Given the description of an element on the screen output the (x, y) to click on. 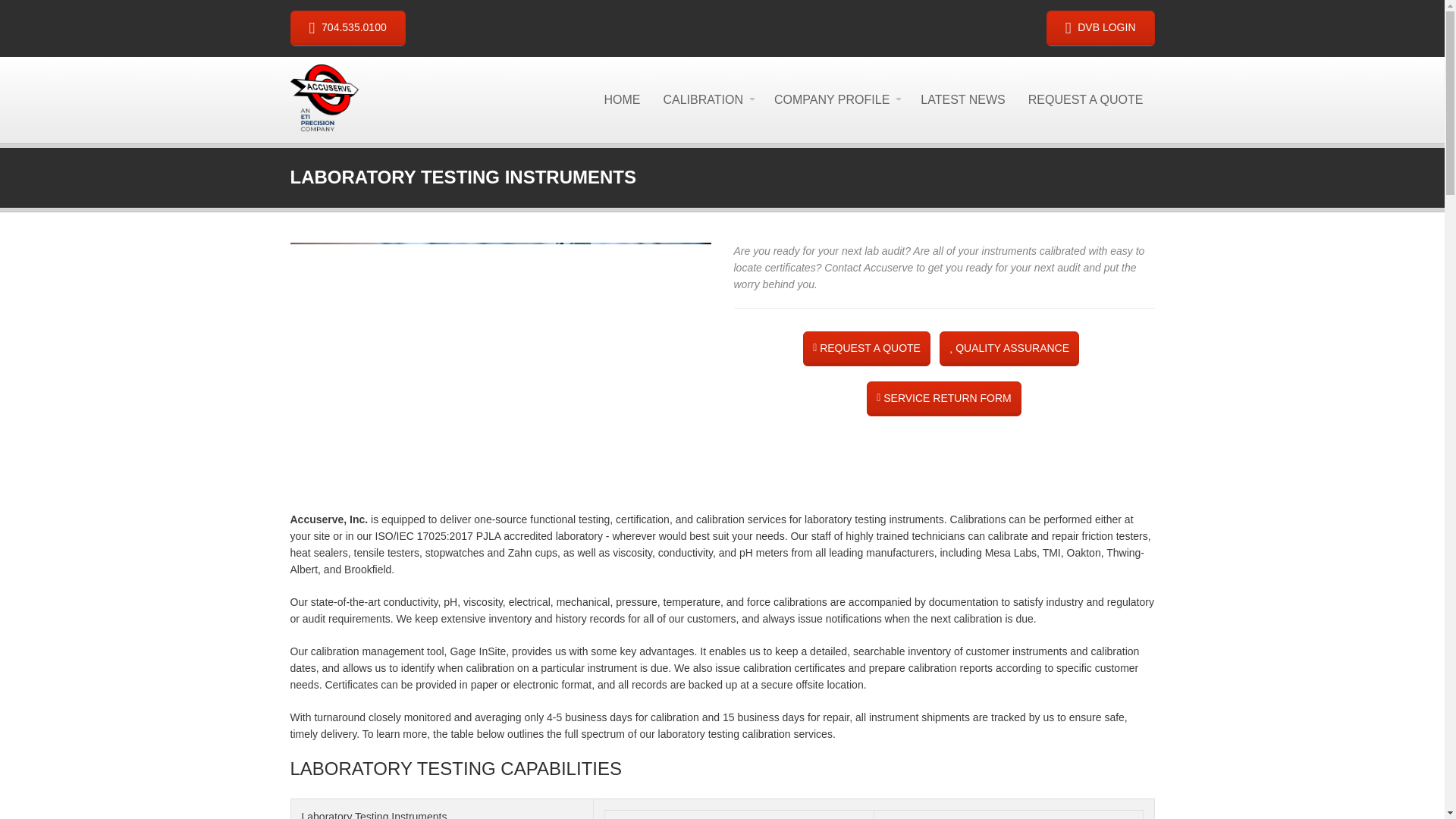
COMPANY PROFILE (835, 99)
QUALITY ASSURANCE (1008, 348)
DVB LOGIN (1100, 27)
SERVICE RETURN FORM (944, 398)
CALIBRATION (706, 99)
LATEST NEWS (962, 99)
REQUEST A QUOTE (1085, 99)
704.535.0100 (346, 27)
REQUEST A QUOTE (866, 348)
